Given the description of an element on the screen output the (x, y) to click on. 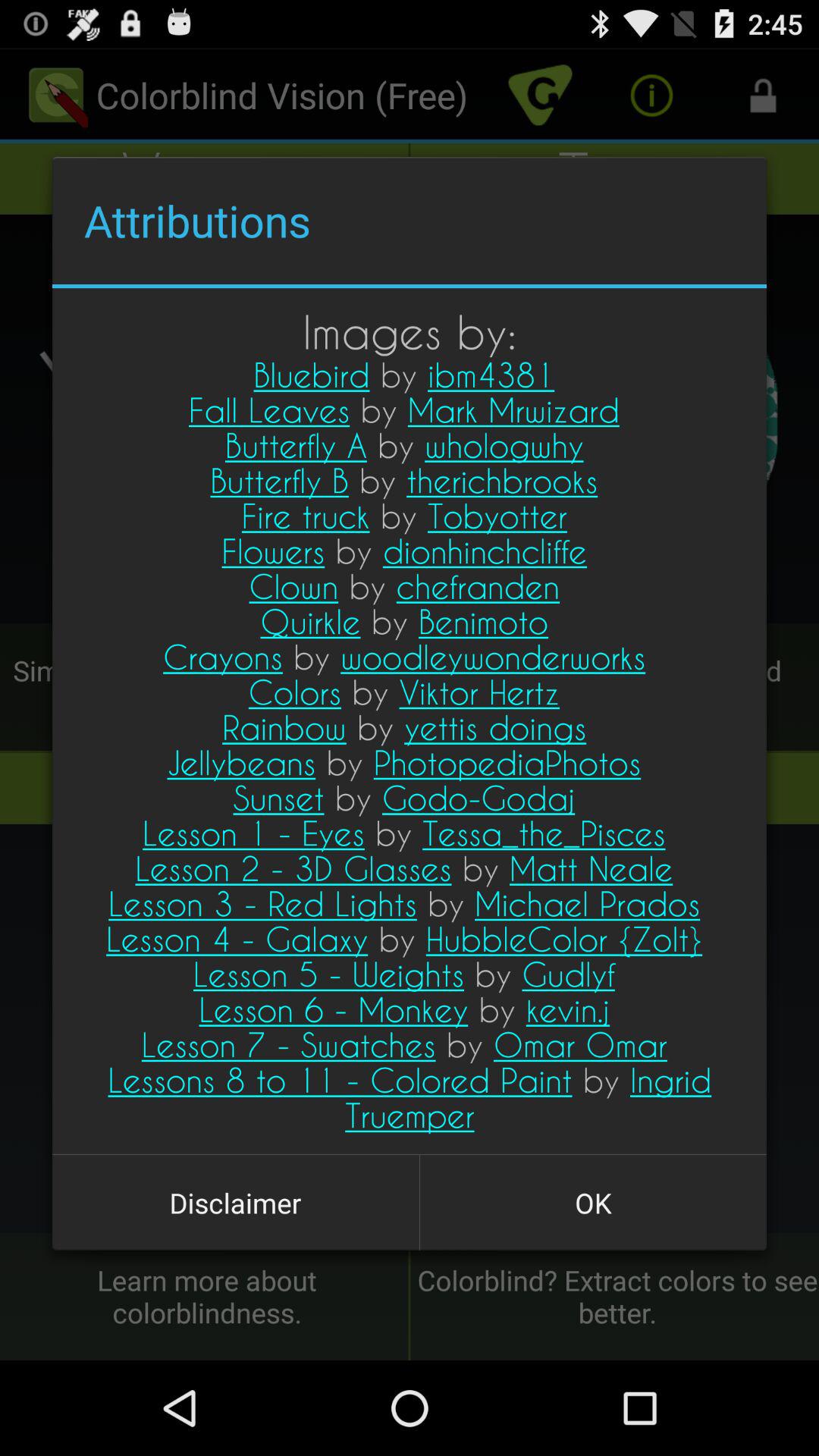
select the ok icon (593, 1202)
